Given the description of an element on the screen output the (x, y) to click on. 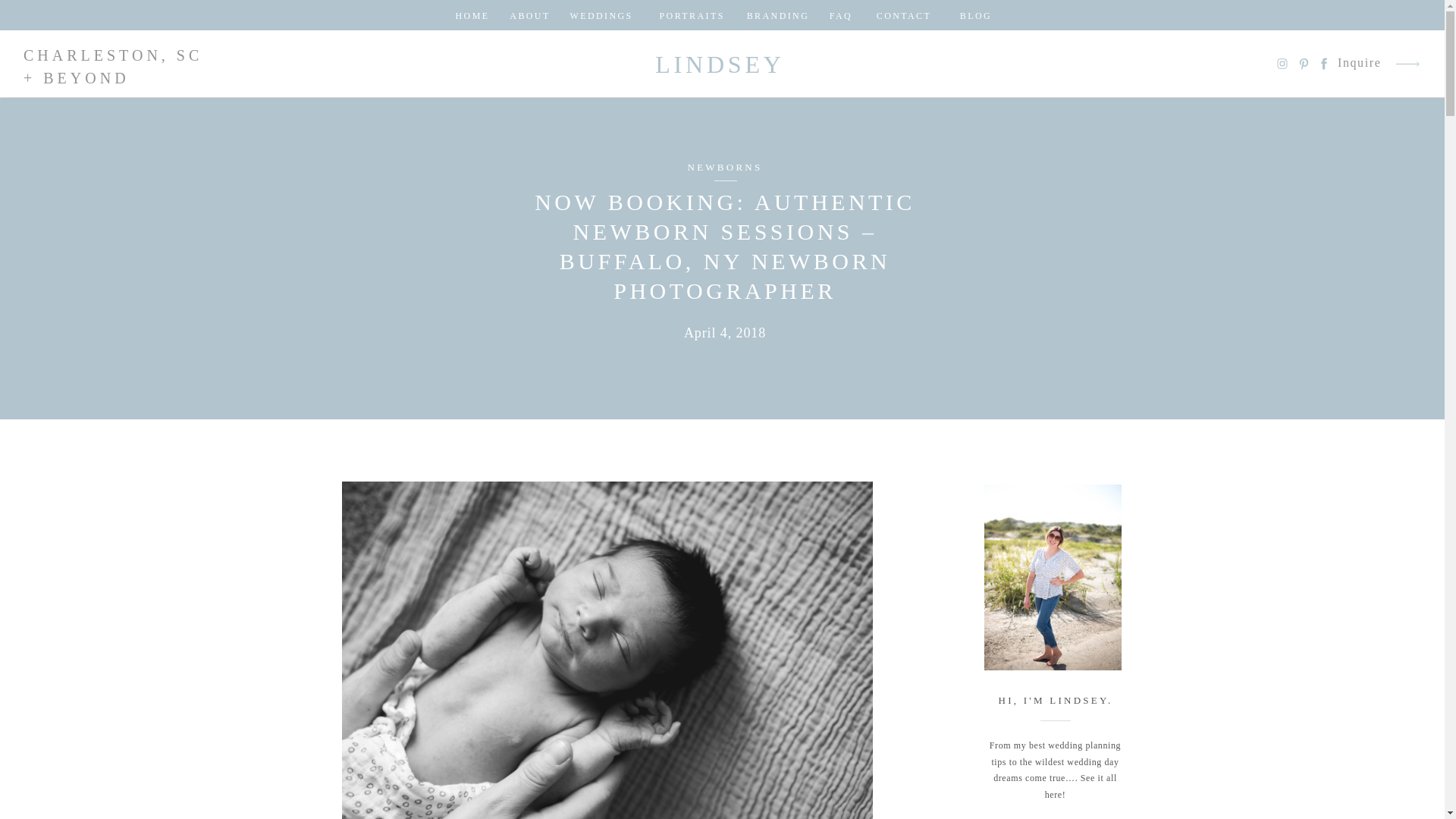
BLOG (975, 15)
FAQ (840, 15)
WEDDINGS (601, 15)
BRANDING (777, 15)
PORTRAITS (690, 15)
LINDSEY ROBINSON (720, 64)
arrow (1407, 63)
NEWBORNS (724, 166)
arrow (1407, 63)
HOME (472, 15)
CONTACT (903, 15)
ABOUT (530, 15)
Inquire  (1360, 64)
